Given the description of an element on the screen output the (x, y) to click on. 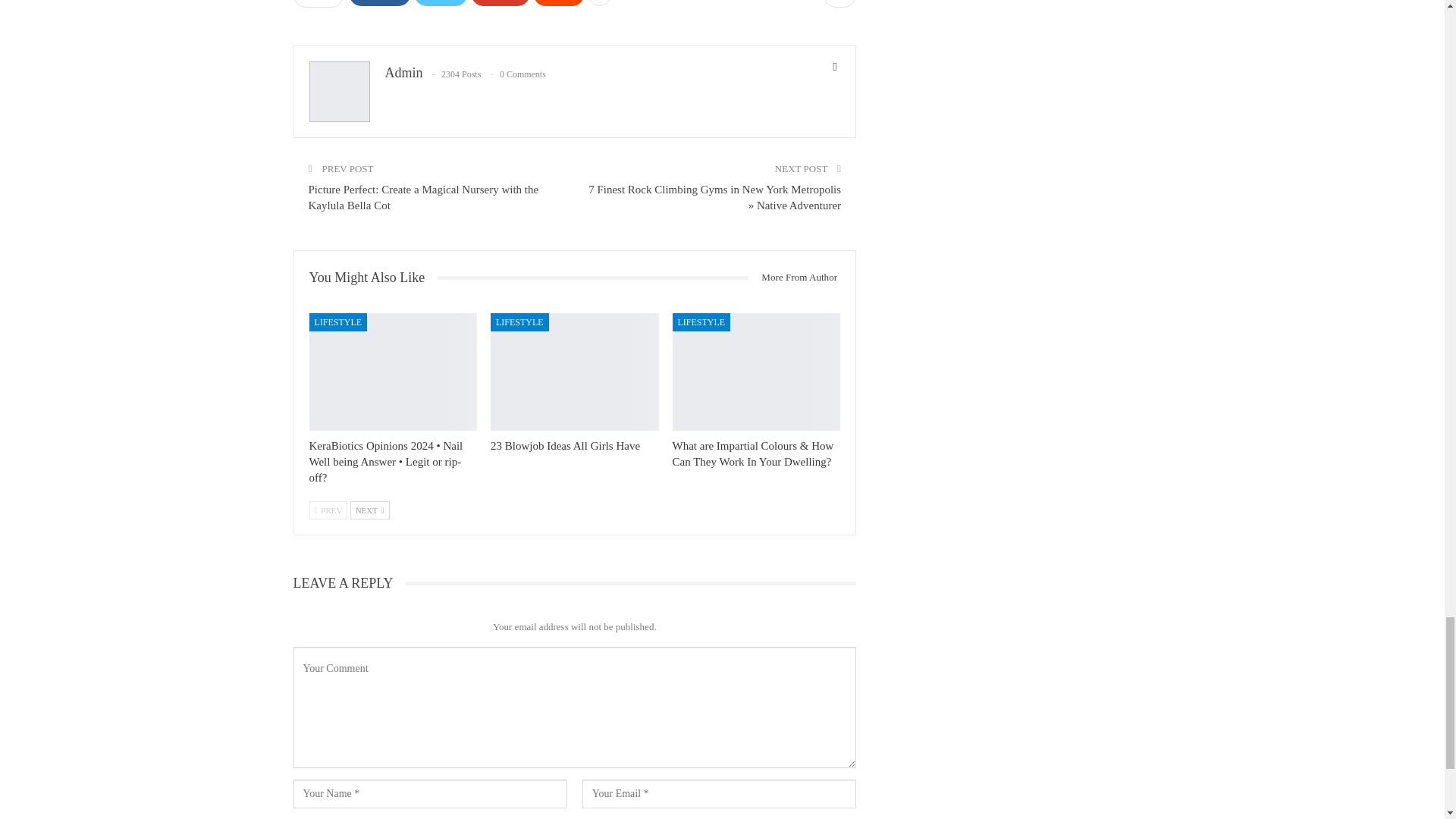
Admin (404, 72)
0 (840, 3)
23 Blowjob Ideas All Girls Have (574, 371)
Facebook (379, 2)
23 Blowjob Ideas All Girls Have (565, 445)
Twitter (439, 2)
ReddIt (559, 2)
